Given the description of an element on the screen output the (x, y) to click on. 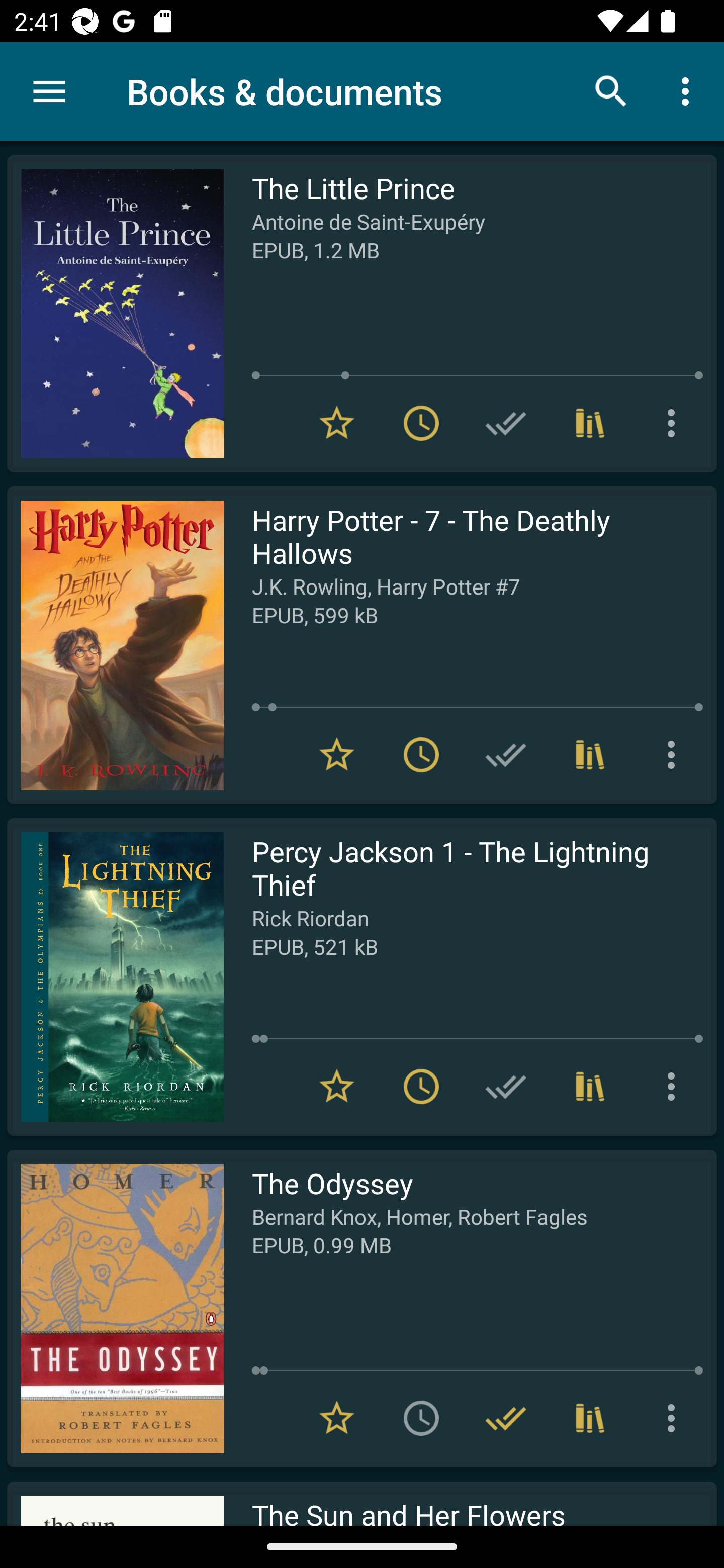
Menu (49, 91)
Search books & documents (611, 90)
More options (688, 90)
Read The Little Prince (115, 313)
Remove from Favorites (336, 423)
Remove from To read (421, 423)
Add to Have read (505, 423)
Collections (1) (590, 423)
More options (674, 423)
Read Harry Potter - 7 - The Deathly Hallows (115, 645)
Remove from Favorites (336, 753)
Remove from To read (421, 753)
Add to Have read (505, 753)
Collections (3) (590, 753)
More options (674, 753)
Read Percy Jackson 1 - The Lightning Thief (115, 976)
Remove from Favorites (336, 1086)
Remove from To read (421, 1086)
Add to Have read (505, 1086)
Collections (1) (590, 1086)
More options (674, 1086)
Read The Odyssey (115, 1308)
Remove from Favorites (336, 1417)
Add to To read (421, 1417)
Remove from Have read (505, 1417)
Collections (3) (590, 1417)
More options (674, 1417)
